Given the description of an element on the screen output the (x, y) to click on. 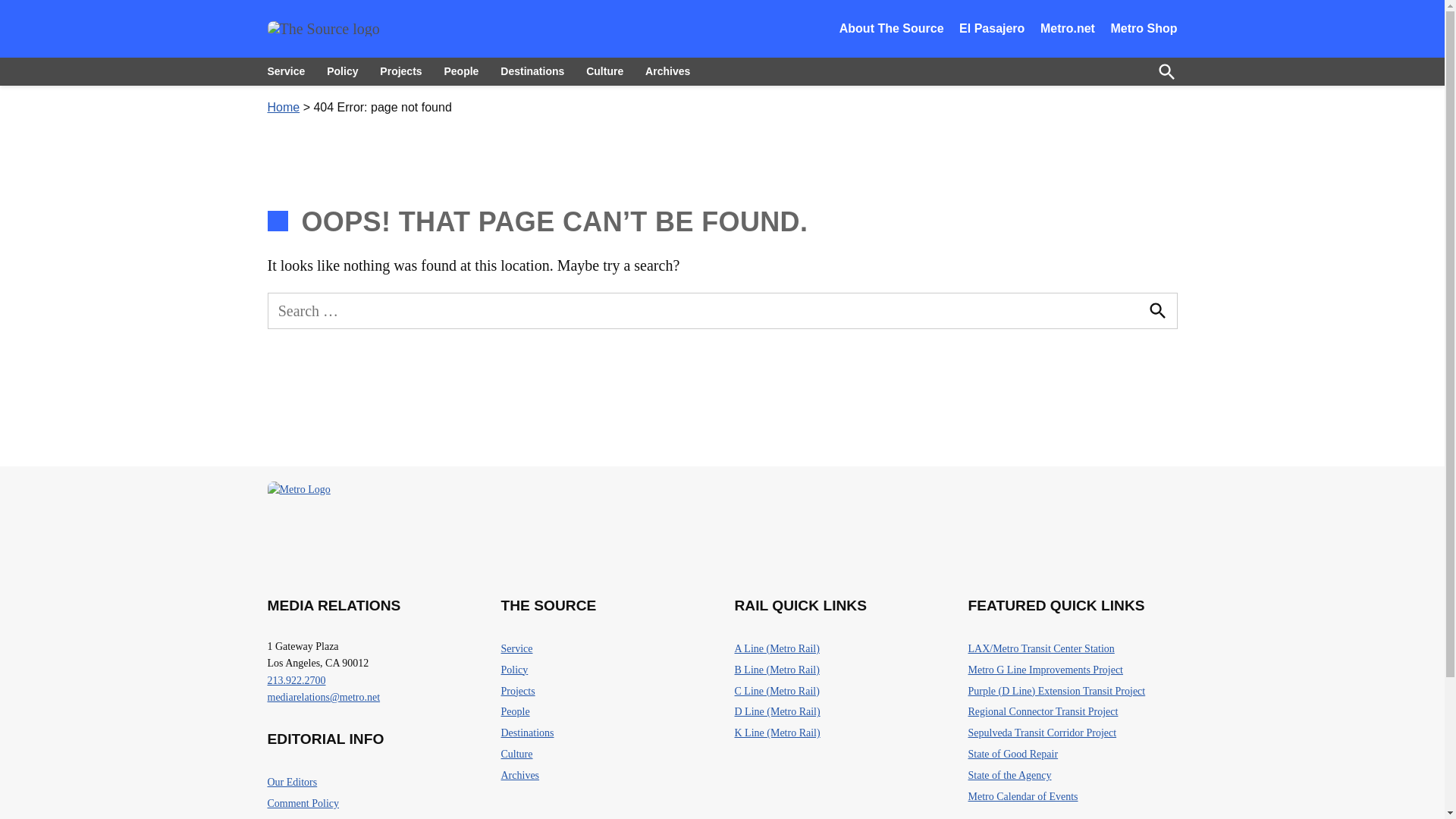
Search (1156, 310)
Privacy Policy (297, 816)
Home (282, 106)
People (461, 71)
Comment Policy (302, 803)
Service (516, 648)
Destinations (532, 71)
Metro.net (1067, 28)
El Pasajero (992, 28)
Archives (667, 71)
